Given the description of an element on the screen output the (x, y) to click on. 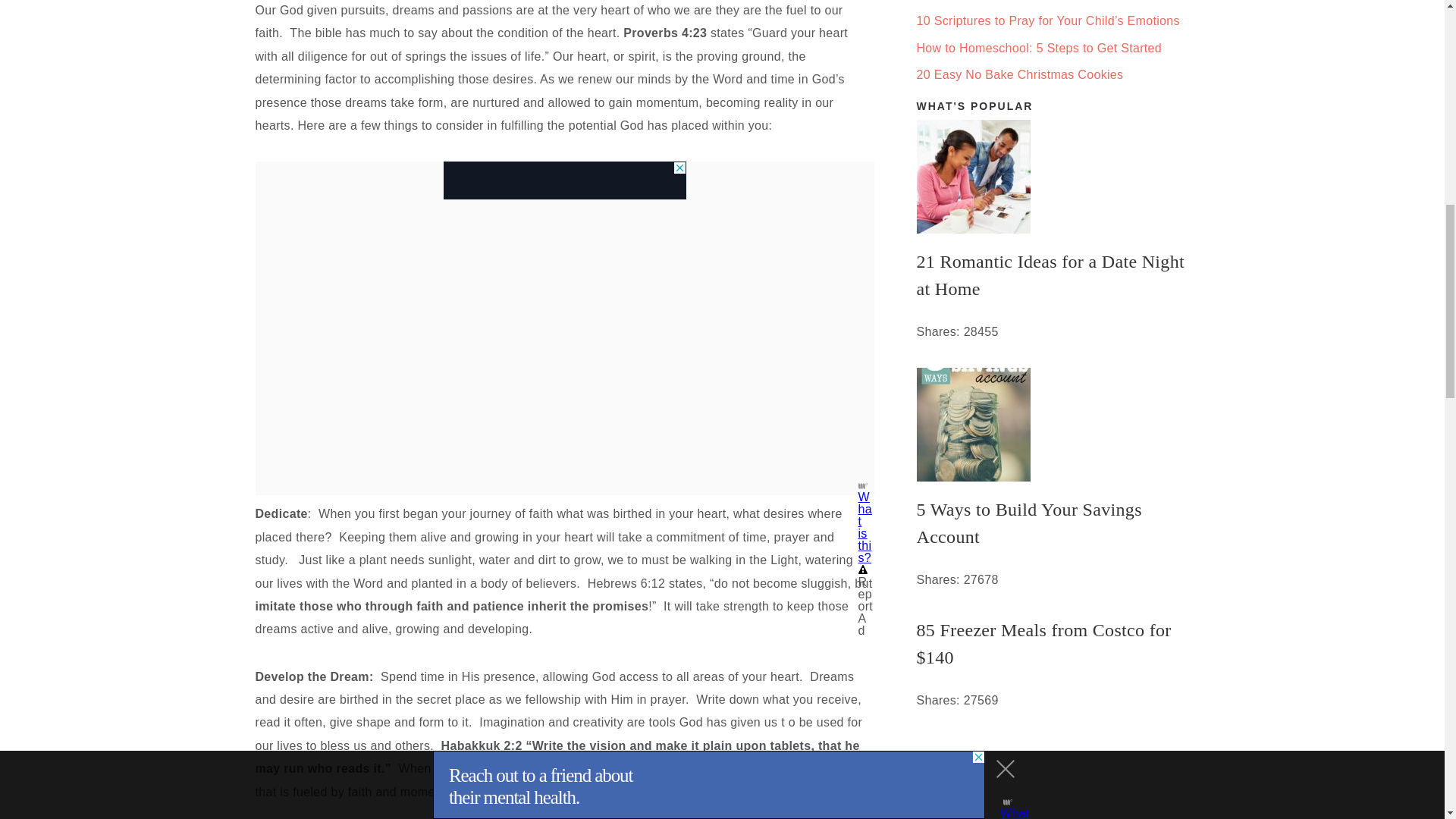
5 Ways to Build Your Savings Account (1052, 424)
5 Ways to Build Your Savings Account (1052, 523)
5 Apps That Can Save You Money on Your Food Budget (1052, 777)
21 Romantic Ideas for a Date Night at Home (1052, 176)
3rd party ad content (563, 180)
21 Romantic Ideas for a Date Night at Home (1052, 275)
